Given the description of an element on the screen output the (x, y) to click on. 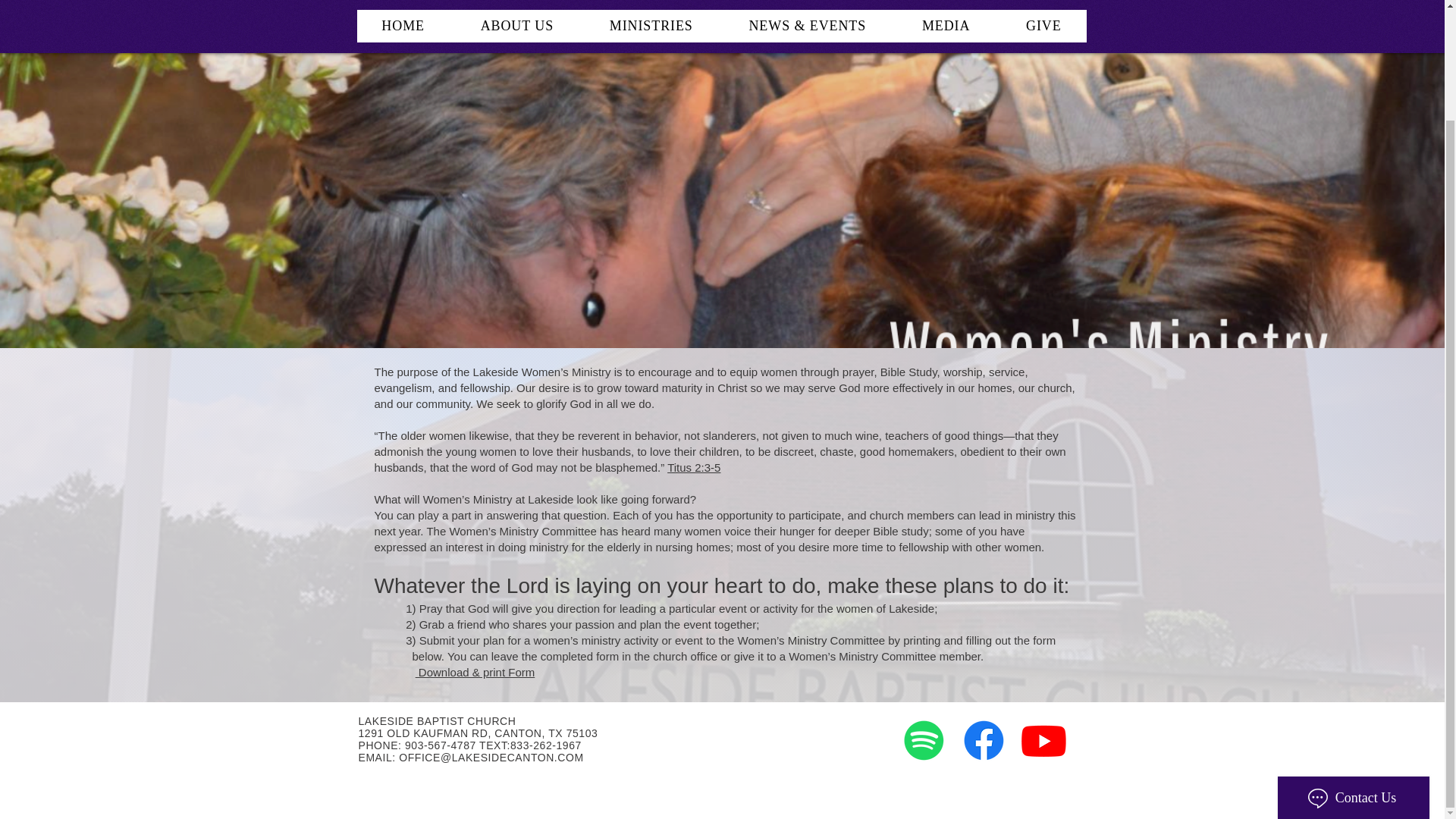
Titus 2:3-5 (693, 467)
